Given the description of an element on the screen output the (x, y) to click on. 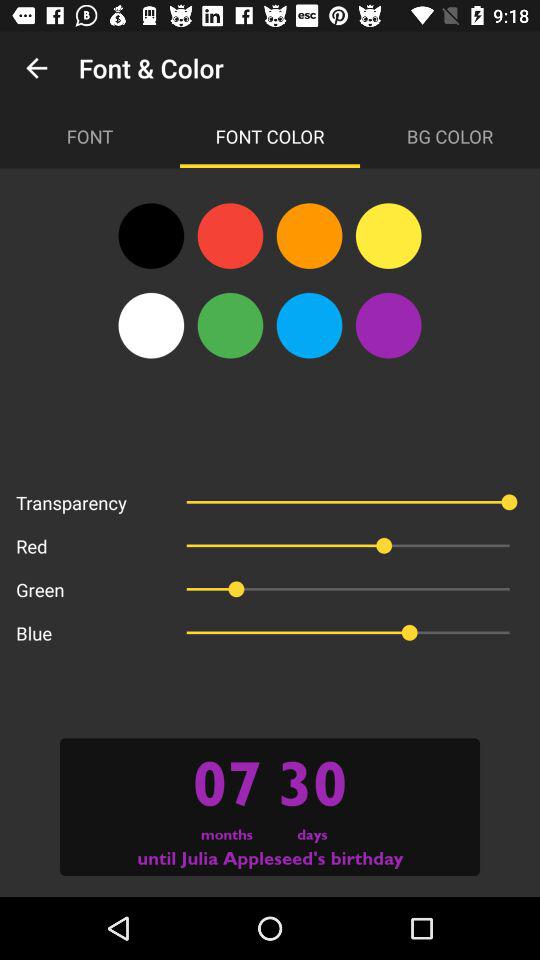
choose the item next to font color icon (450, 136)
